Given the description of an element on the screen output the (x, y) to click on. 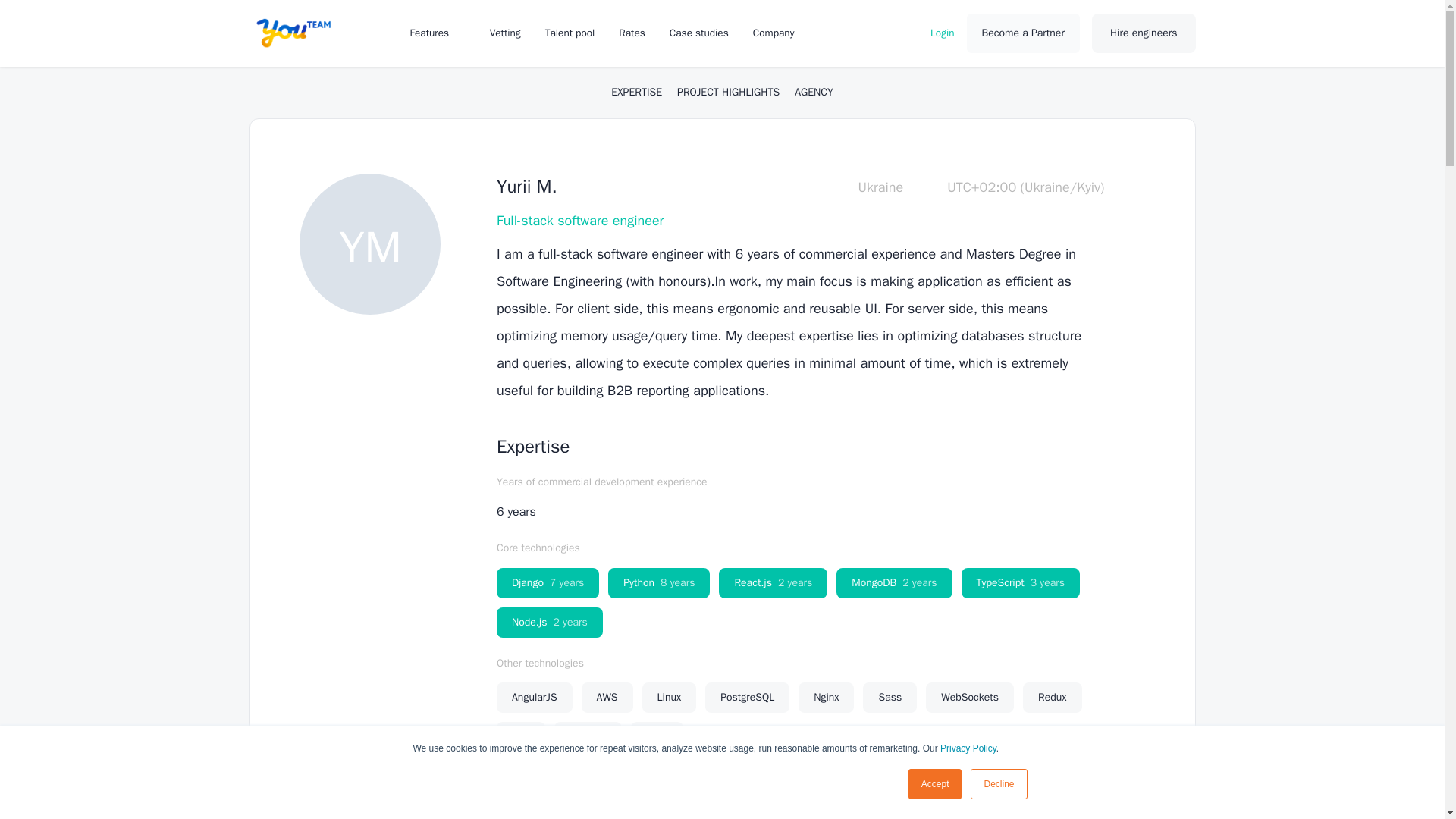
Project Highlights (727, 92)
Rates (631, 32)
Decline (998, 784)
Features (436, 32)
AGENCY (813, 92)
Agency (813, 92)
Check if Yurii is available (1003, 809)
Talent pool (569, 32)
Accept (935, 784)
EXPERTISE (636, 92)
Company (781, 32)
PROJECT HIGHLIGHTS (727, 92)
Privacy Policy (967, 747)
Case studies (699, 32)
Expertise (636, 92)
